Given the description of an element on the screen output the (x, y) to click on. 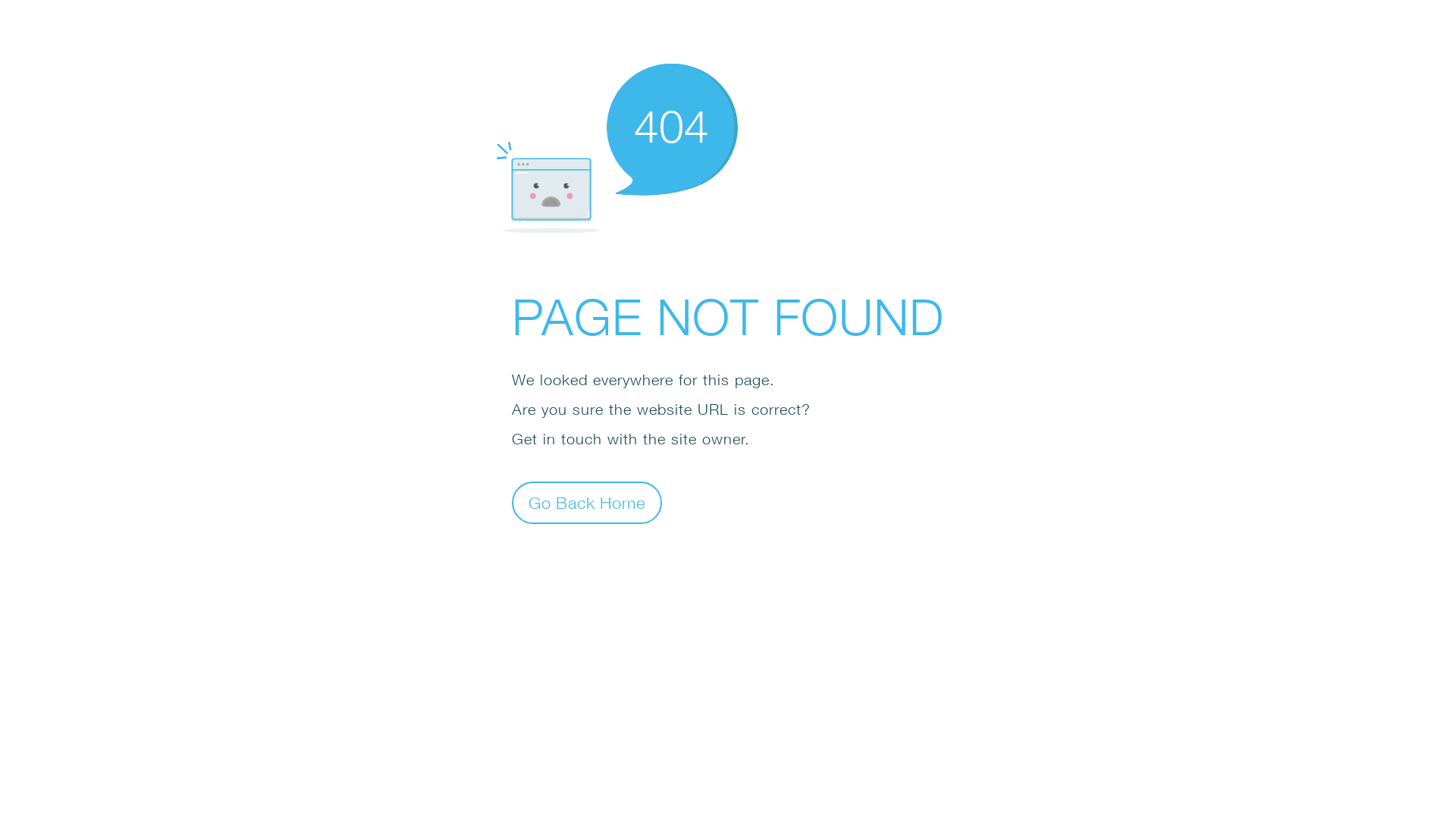
Go Back Home Element type: text (586, 502)
